Given the description of an element on the screen output the (x, y) to click on. 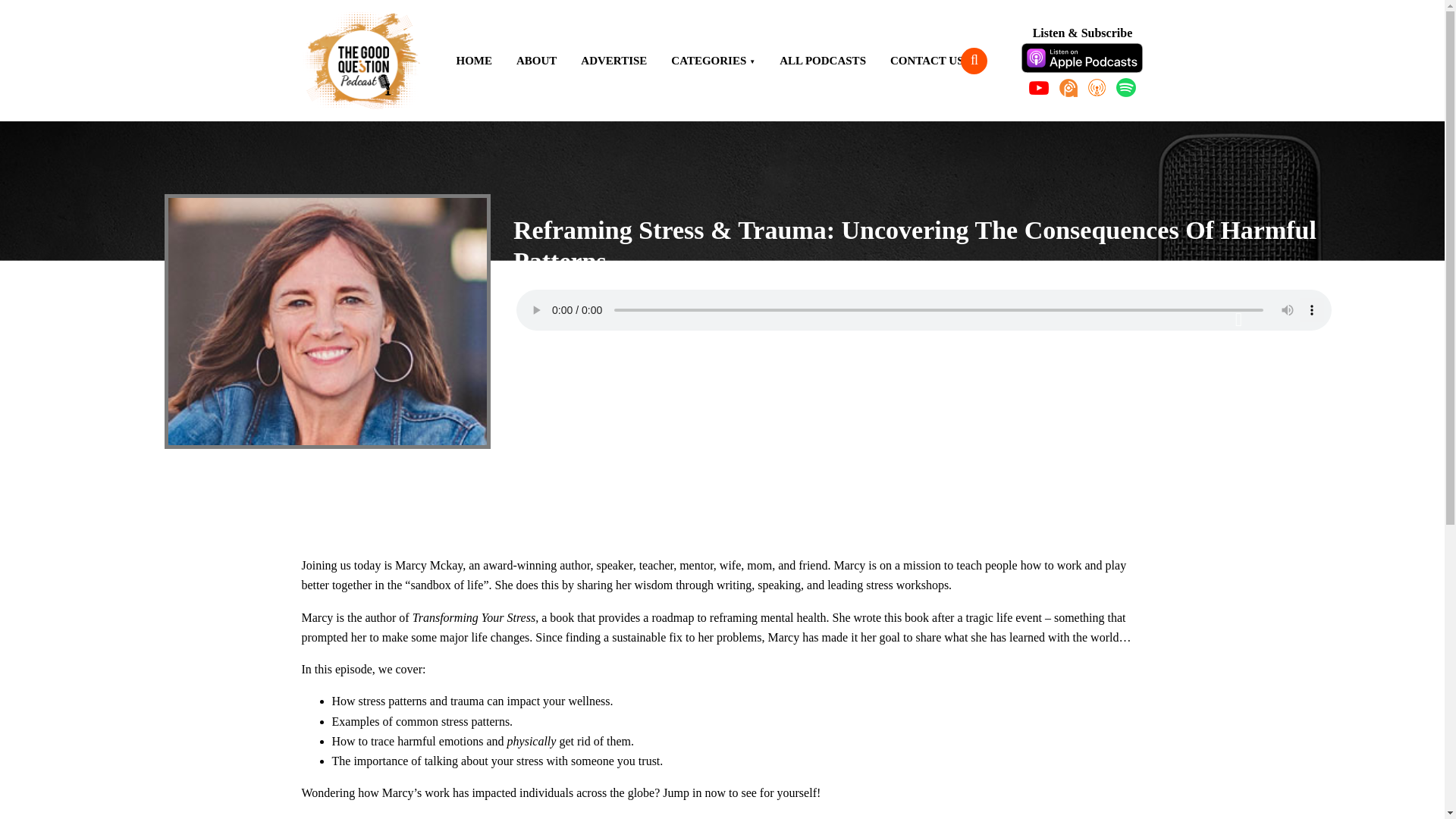
ADVERTISE (614, 60)
iHeartRadio (807, 402)
Apple (1082, 57)
ABOUT (536, 60)
Spotify (689, 402)
ALL PODCASTS (822, 60)
Youtube (571, 402)
Podcast Addict (1068, 87)
Player FM (728, 402)
YouTube (1038, 88)
